Given the description of an element on the screen output the (x, y) to click on. 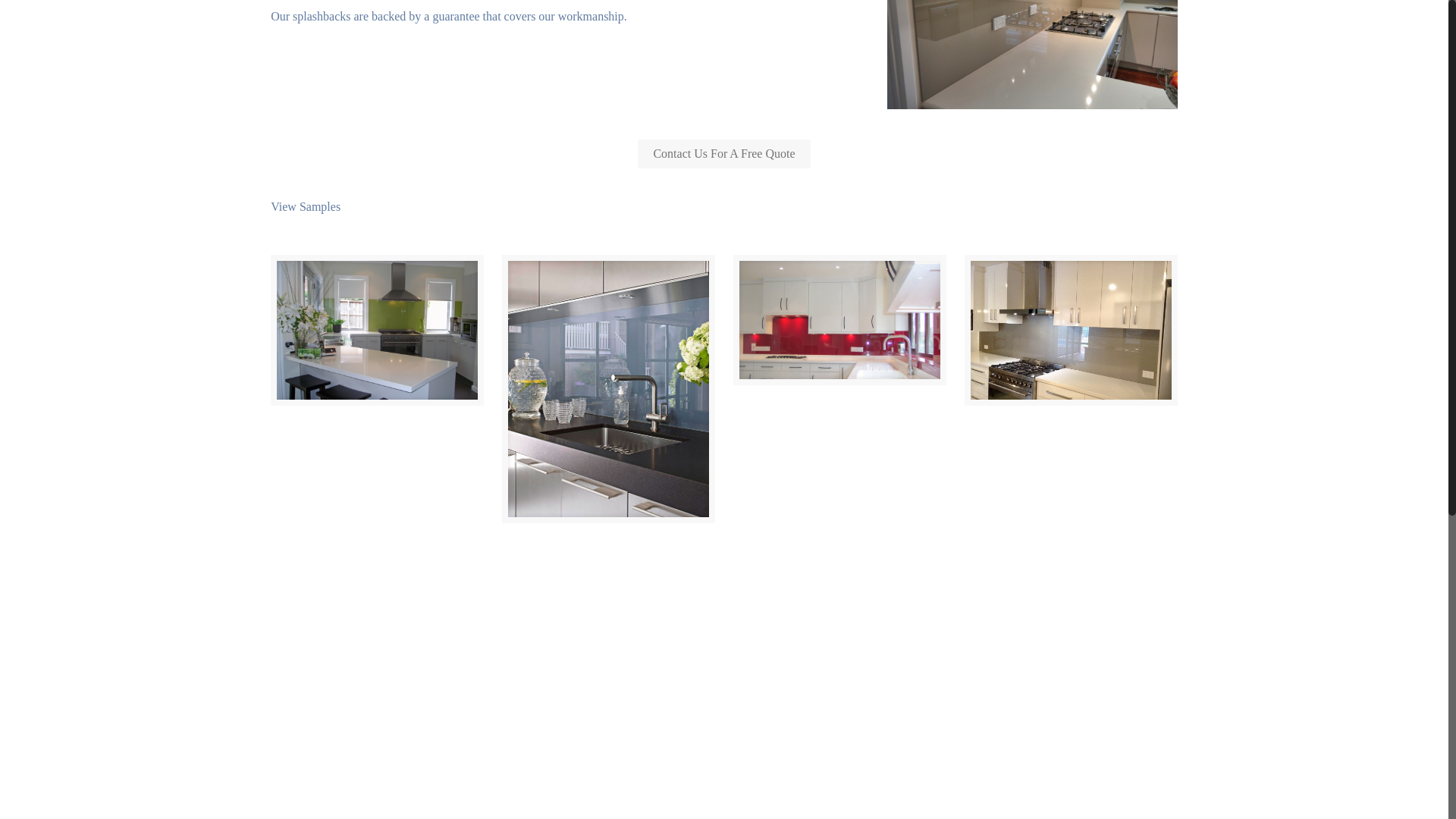
Contact Us For A Free Quote (723, 153)
